Given the description of an element on the screen output the (x, y) to click on. 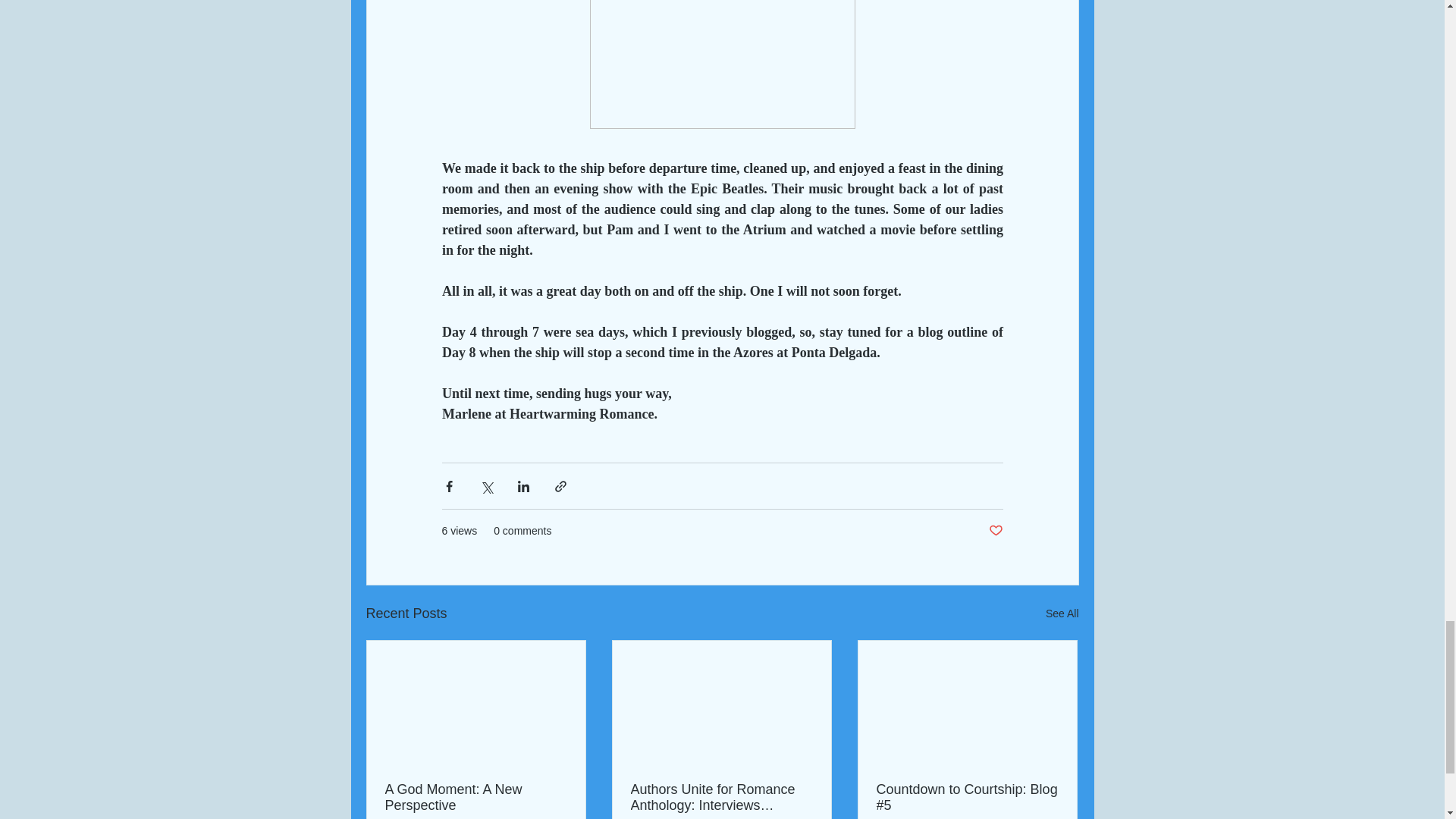
Post not marked as liked (995, 530)
See All (1061, 613)
A God Moment: A New Perspective (476, 798)
